Given the description of an element on the screen output the (x, y) to click on. 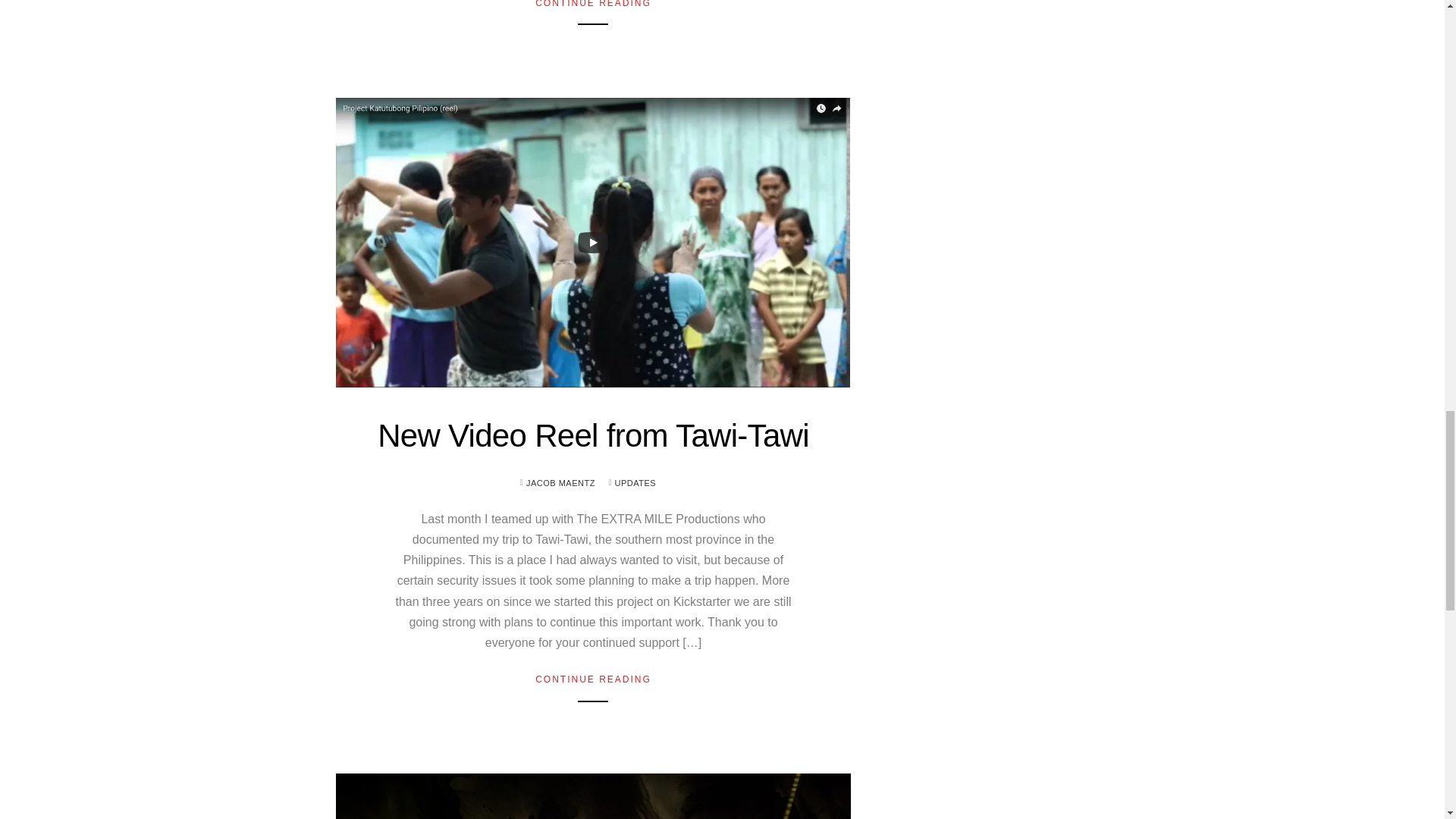
UPDATES (635, 482)
CONTINUE READING (592, 4)
New Video Reel from Tawi-Tawi (593, 435)
CONTINUE READING (592, 677)
